Given the description of an element on the screen output the (x, y) to click on. 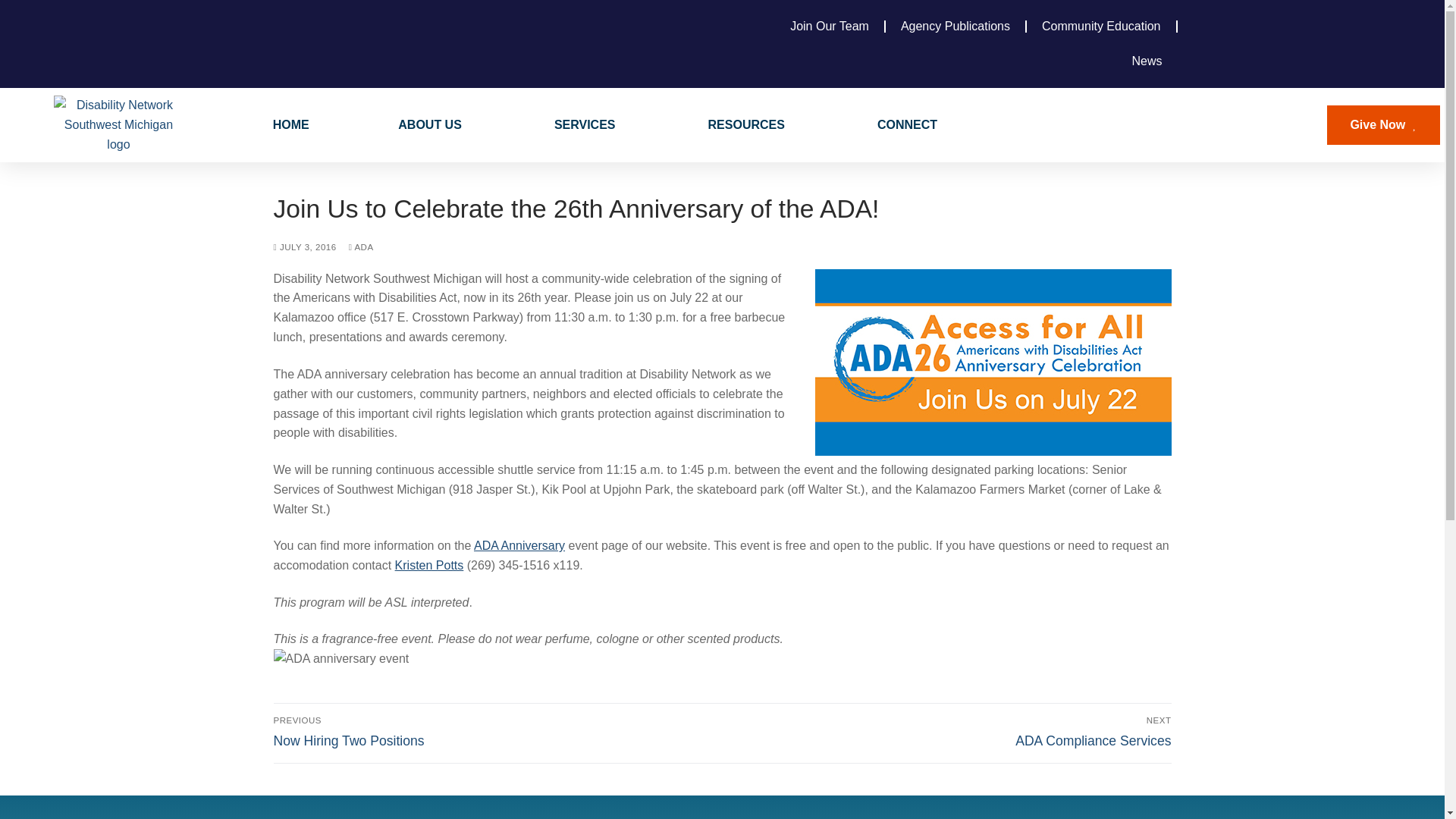
Community Education (431, 124)
Services Link (1101, 26)
About Us Link (585, 124)
Join Our Team (431, 124)
Link to Home Page (828, 26)
Agency Publications (291, 124)
HOME (585, 124)
News (955, 26)
